Given the description of an element on the screen output the (x, y) to click on. 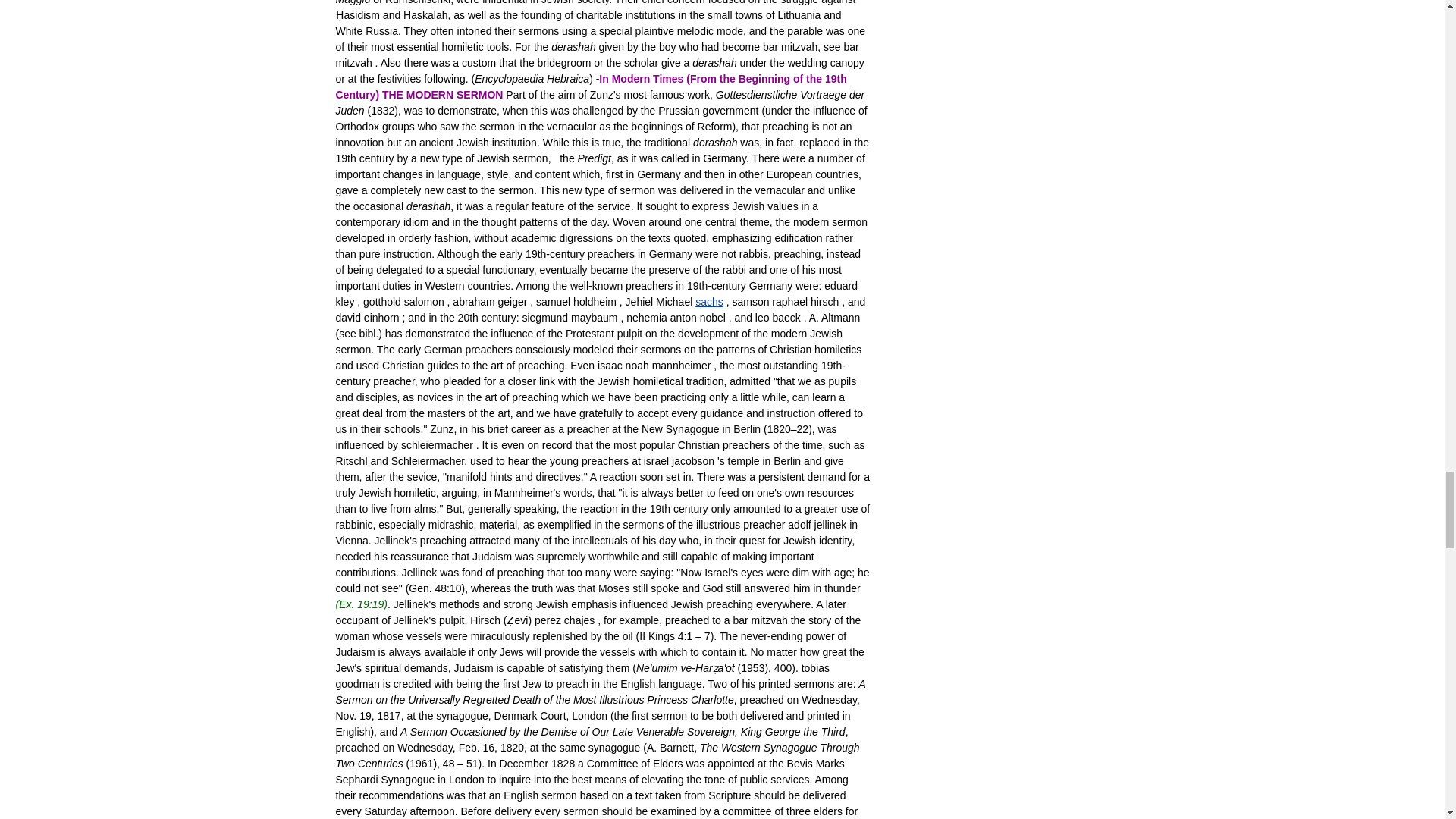
sachs (709, 301)
